Given the description of an element on the screen output the (x, y) to click on. 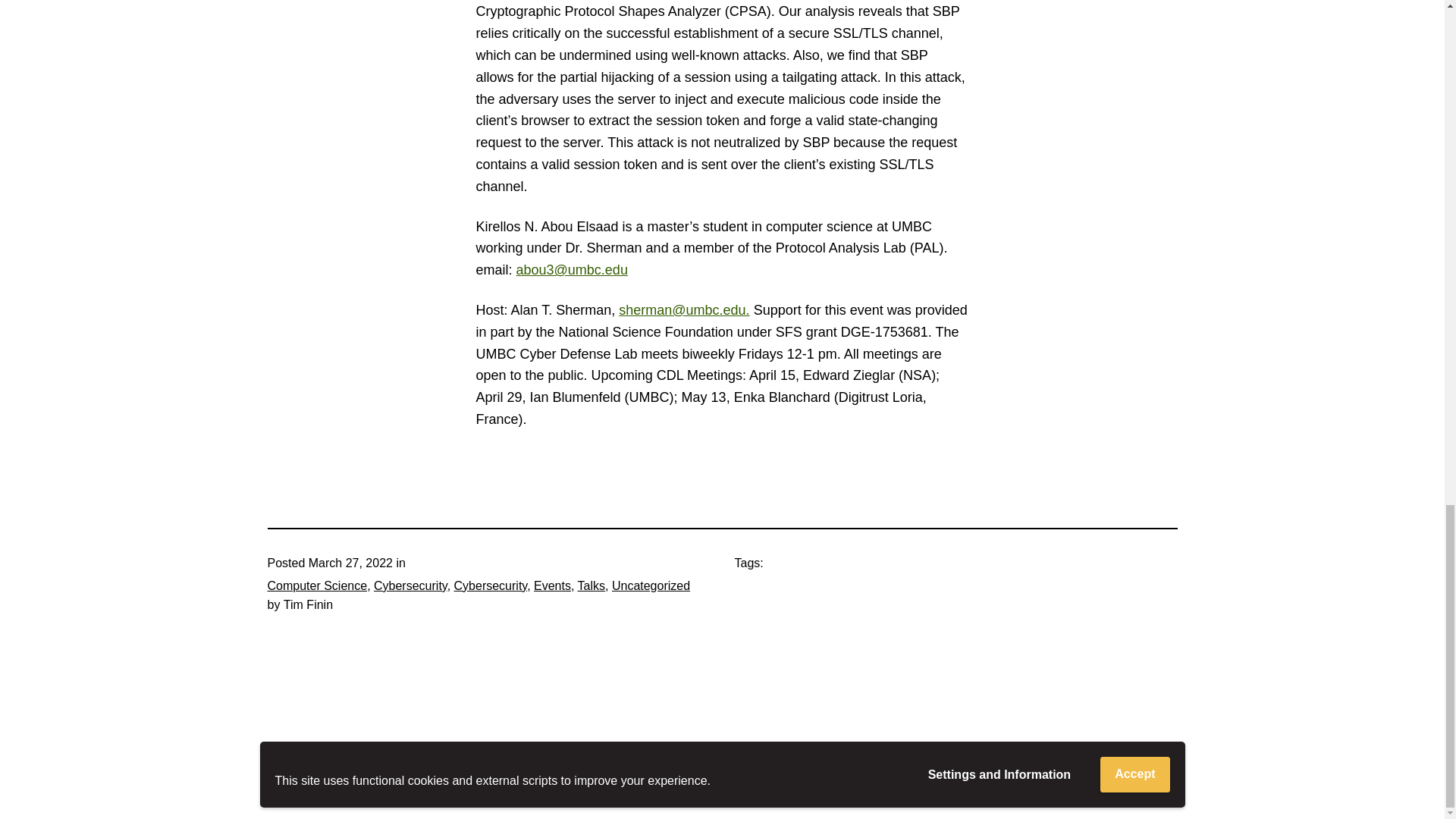
Department of Computer Science and Electrical Engineering (448, 770)
Uncategorized (650, 585)
Cybersecurity (490, 585)
Computer Science (316, 585)
WordPress (1143, 770)
Talks (591, 585)
Events (552, 585)
Cybersecurity (410, 585)
